Given the description of an element on the screen output the (x, y) to click on. 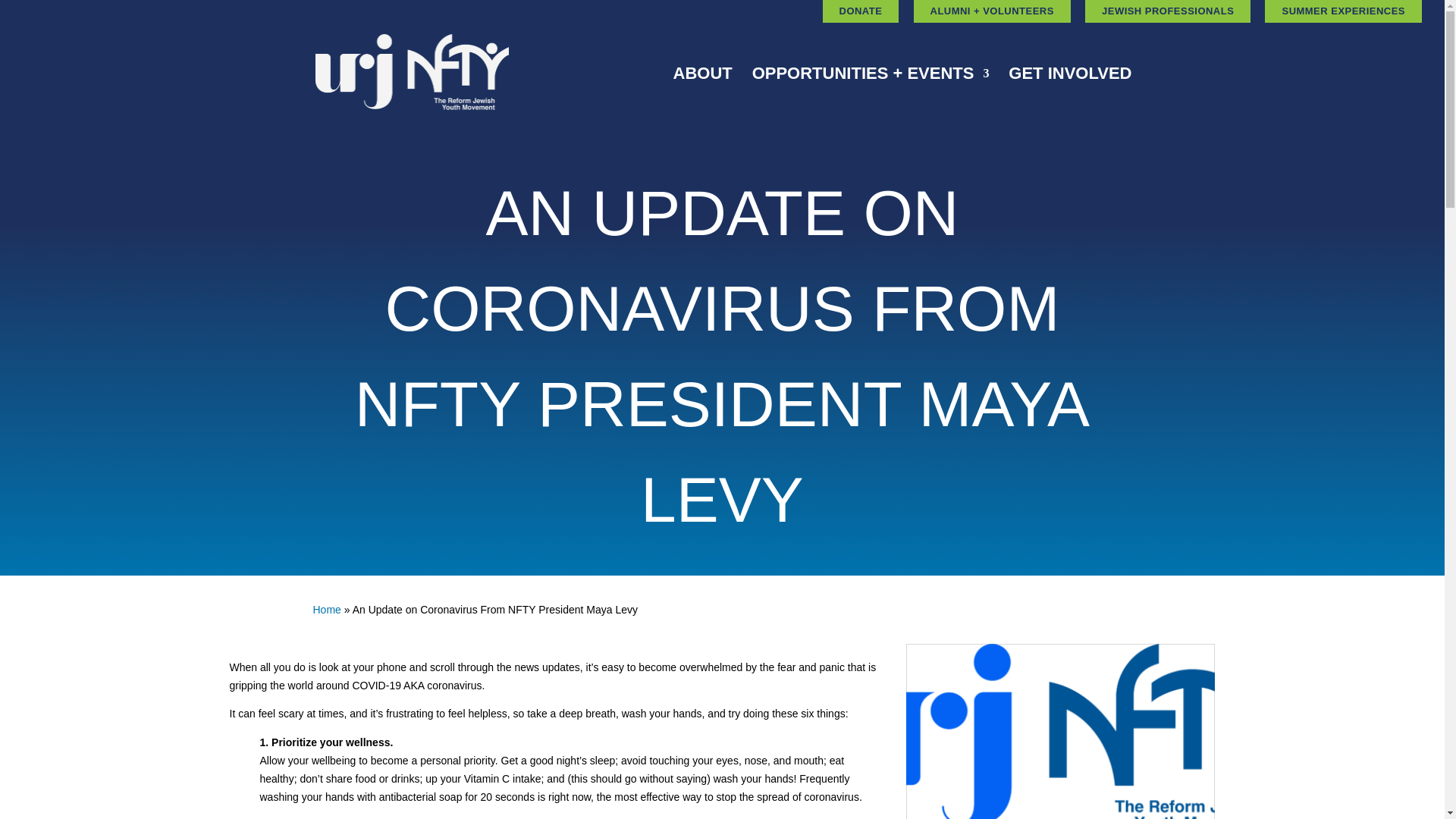
SUMMER EXPERIENCES (1343, 11)
DONATE (860, 11)
GET INVOLVED (1070, 95)
Home (326, 609)
ABOUT (702, 95)
JEWISH PROFESSIONALS (1167, 11)
